Given the description of an element on the screen output the (x, y) to click on. 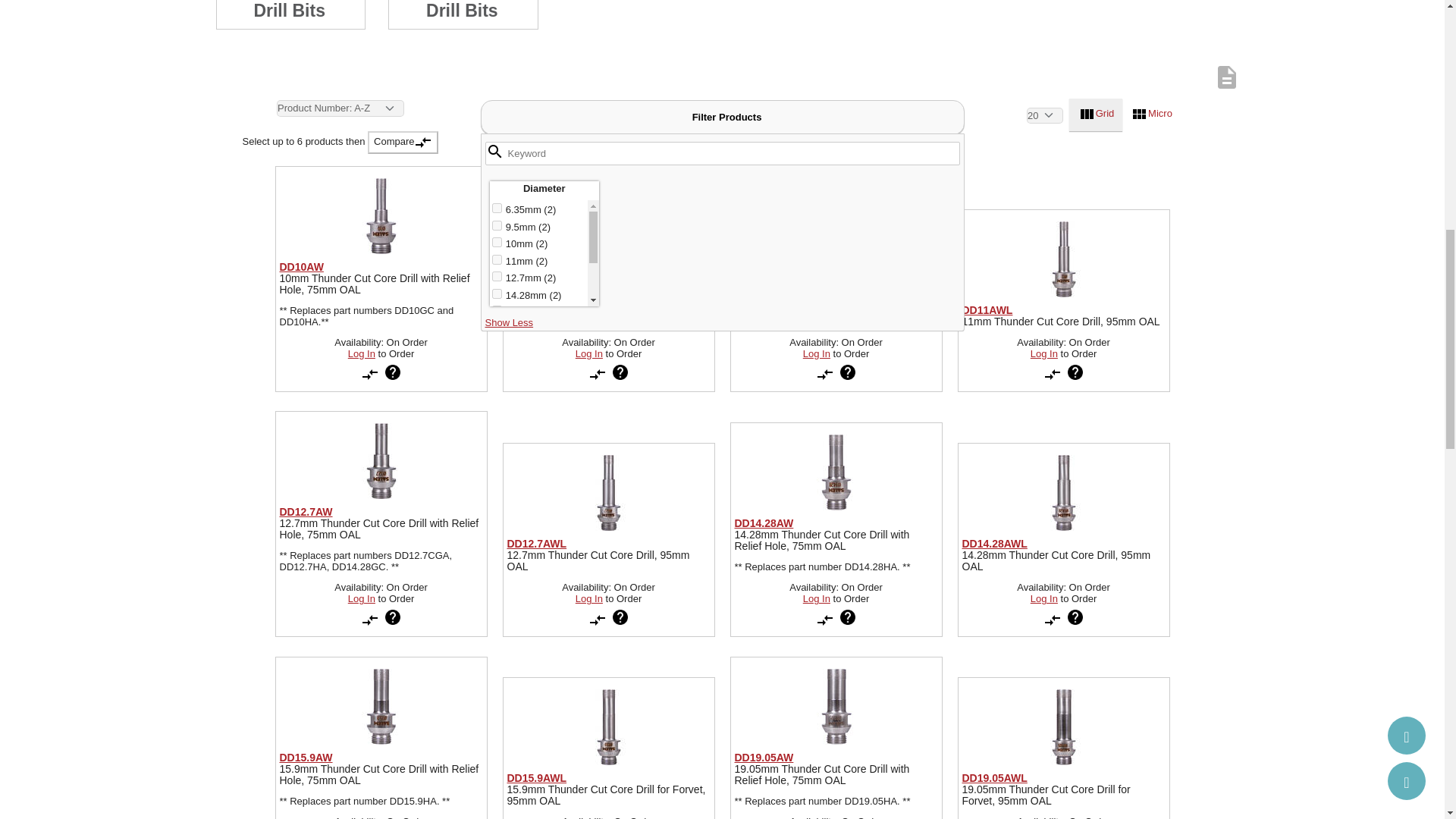
12.7mm (497, 276)
Request Information (847, 617)
15.9mm (497, 310)
Request Information (619, 617)
Request Information (1074, 372)
25.4mm (497, 361)
Request Information (392, 617)
Request Information (847, 372)
9.5mm (497, 225)
Request Information (847, 372)
10mm (497, 242)
14.28mm (497, 293)
Request Information (847, 617)
22.3mm (497, 344)
Request Information (392, 372)
